Given the description of an element on the screen output the (x, y) to click on. 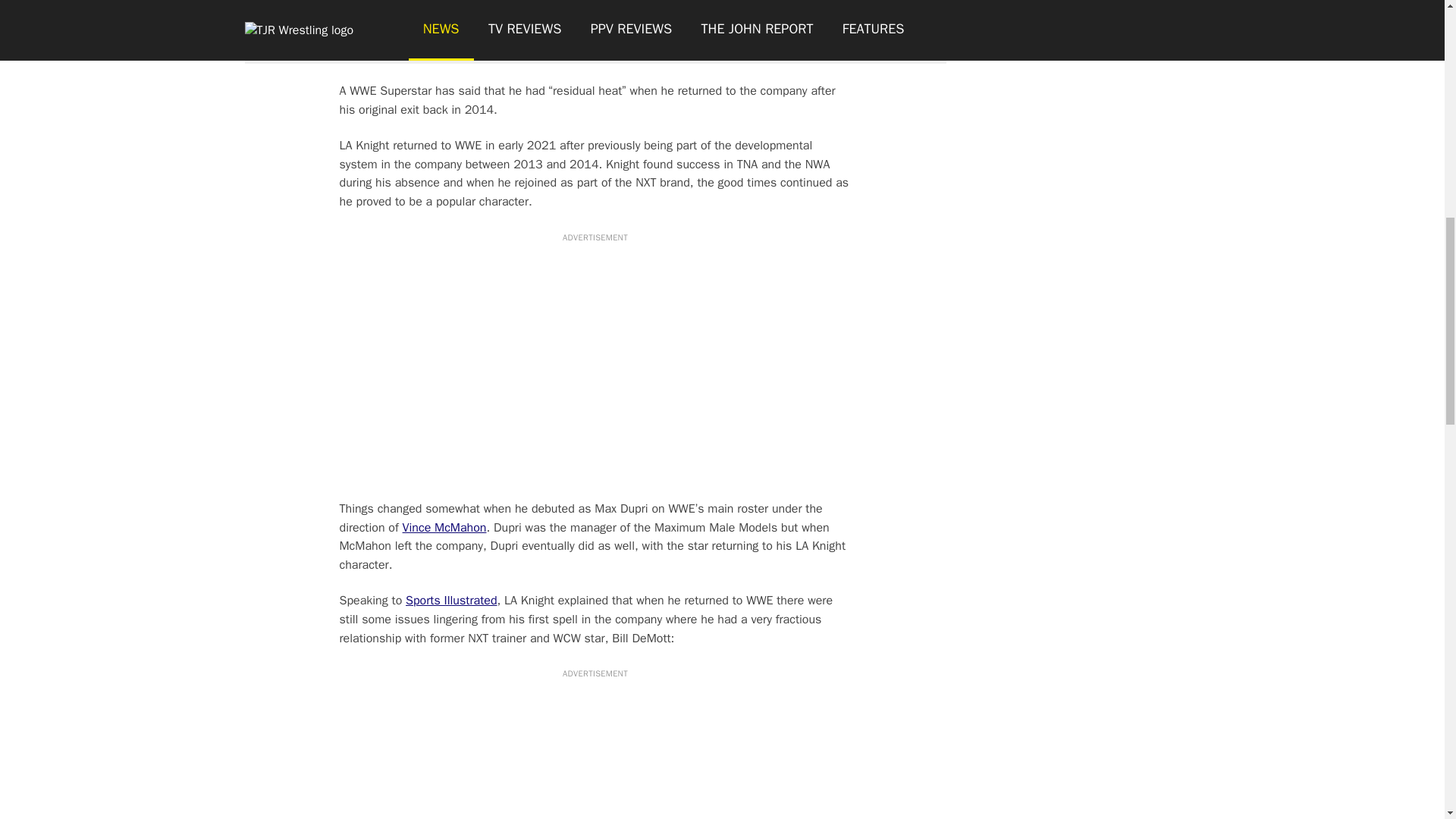
Sports Illustrated (451, 600)
Vince McMahon (444, 527)
